Given the description of an element on the screen output the (x, y) to click on. 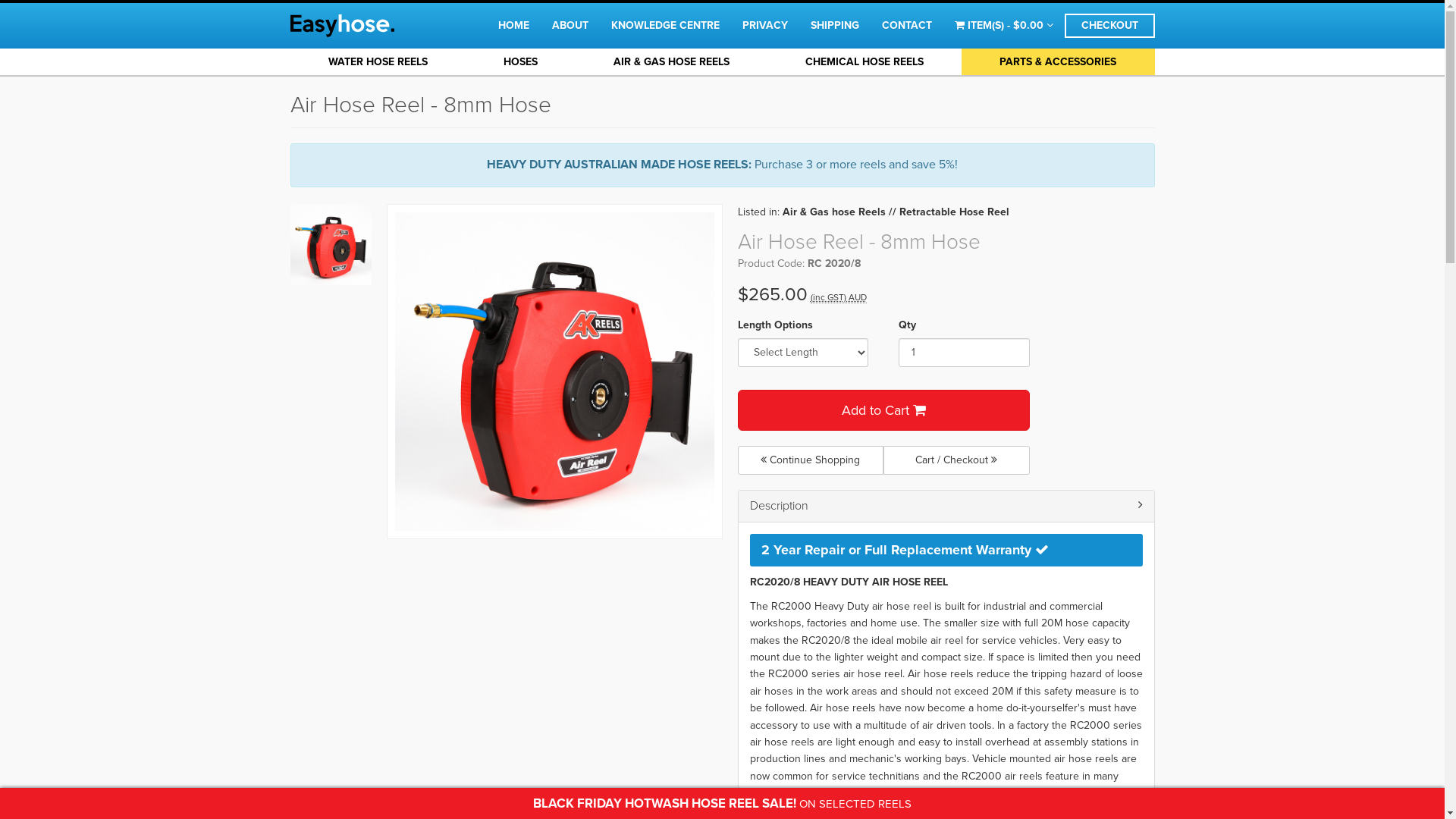
Add to Cart Element type: text (883, 409)
PRIVACY Element type: text (765, 25)
ITEM(S) - $0.00 Element type: text (1003, 25)
CHECKOUT Element type: text (1109, 25)
ABOUT Element type: text (569, 25)
CONTACT Element type: text (906, 25)
Description Element type: text (945, 506)
Continue Shopping Element type: text (810, 459)
SHIPPING Element type: text (834, 25)
CHEMICAL HOSE REELS Element type: text (864, 61)
PARTS & ACCESSORIES Element type: text (1057, 61)
HOSES Element type: text (520, 61)
AIR & GAS HOSE REELS Element type: text (671, 61)
HOME Element type: text (513, 25)
KNOWLEDGE CENTRE Element type: text (664, 25)
Image of Air Hose Reel - 8mm Hose Element type: hover (554, 371)
WATER HOSE REELS Element type: text (376, 61)
Cart / Checkout Element type: text (956, 459)
